Given the description of an element on the screen output the (x, y) to click on. 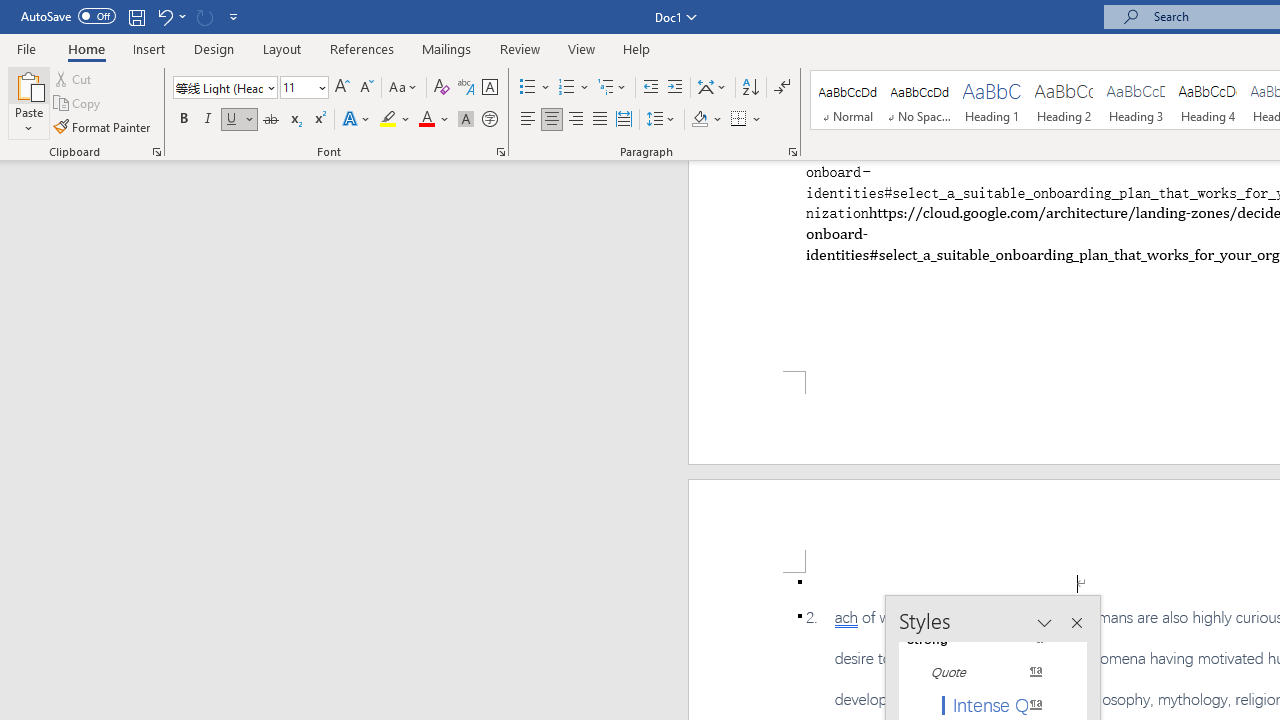
Font Color Automatic (426, 119)
